Given the description of an element on the screen output the (x, y) to click on. 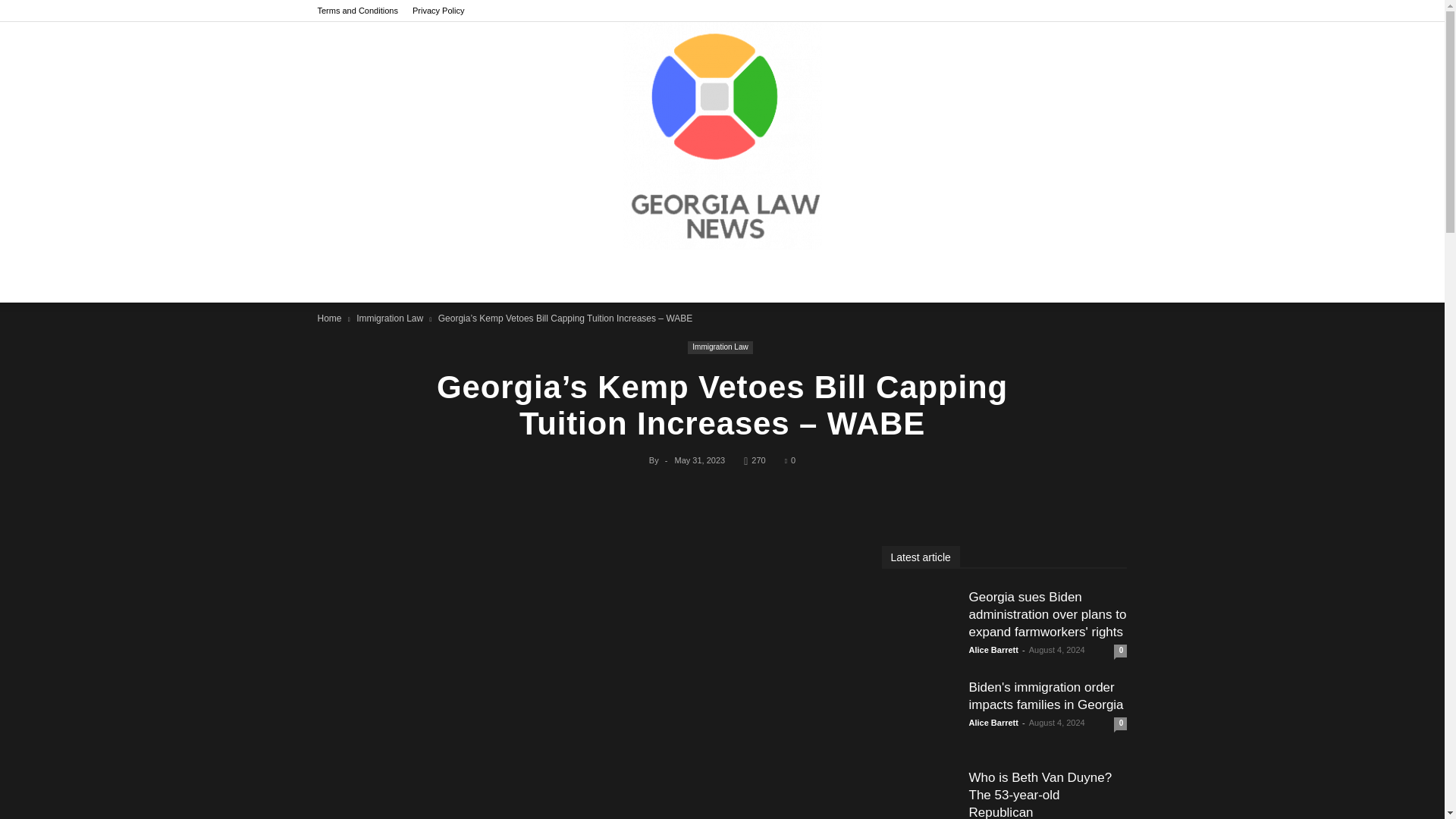
Privacy Policy (438, 10)
Search (1083, 345)
FAMILY LAW (580, 275)
CRIMINAL LAW (487, 275)
Terms and Conditions (357, 10)
INDIGENT DEFENSE (685, 275)
WORKERS COMPENSATION LAW (963, 275)
View all posts in Immigration Law (389, 317)
Home (328, 317)
Immigration Law (719, 347)
0 (789, 460)
IMMIGRATION LAW (807, 275)
Immigration Law (389, 317)
HOME (411, 275)
